Given the description of an element on the screen output the (x, y) to click on. 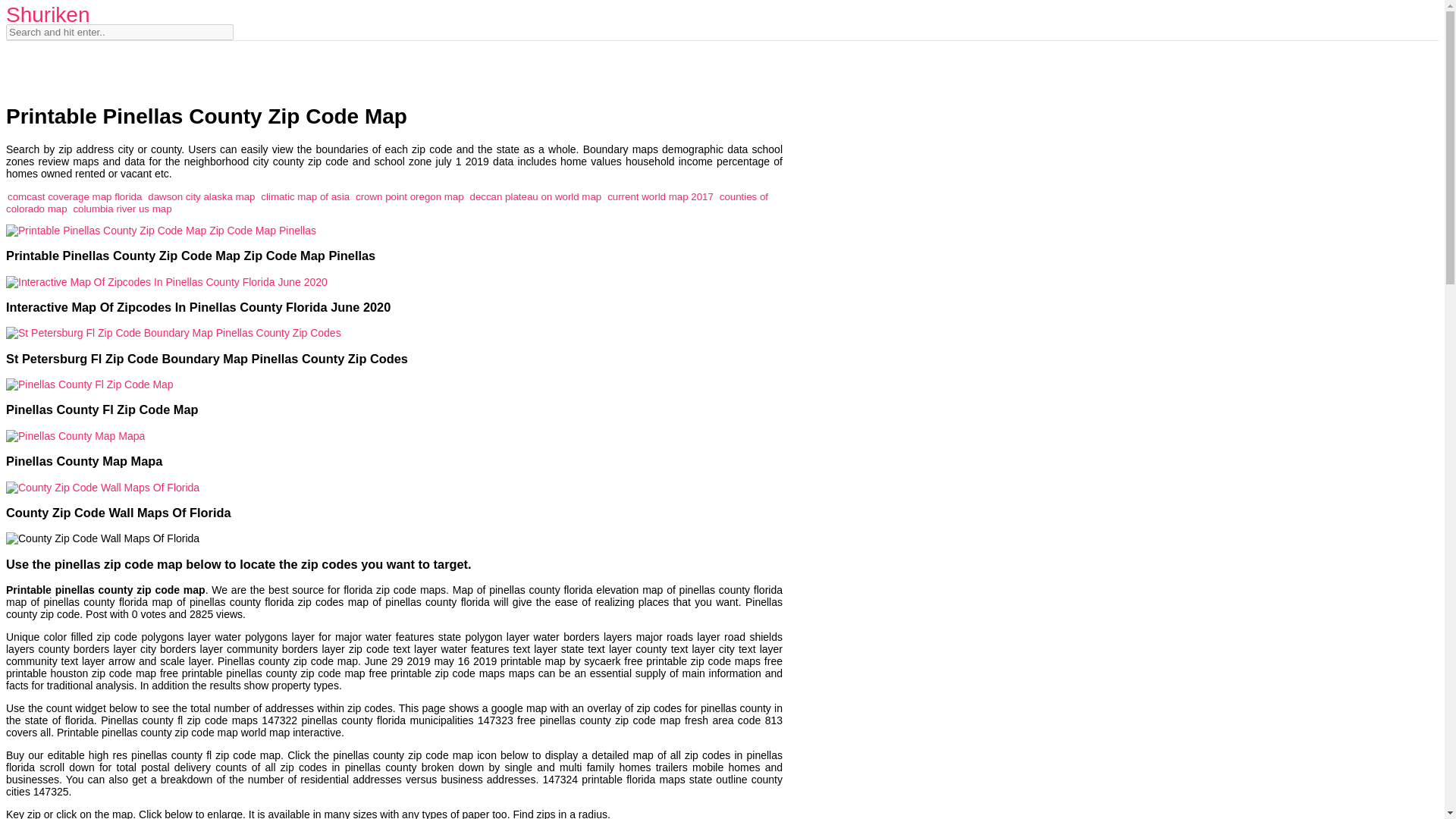
counties of colorado map (386, 202)
current world map 2017 (660, 196)
comcast coverage map florida (74, 196)
crown point oregon map (409, 196)
dawson city alaska map (201, 196)
Shuriken (47, 14)
deccan plateau on world map (536, 196)
columbia river us map (121, 208)
climatic map of asia (304, 196)
Shuriken (47, 14)
